Given the description of an element on the screen output the (x, y) to click on. 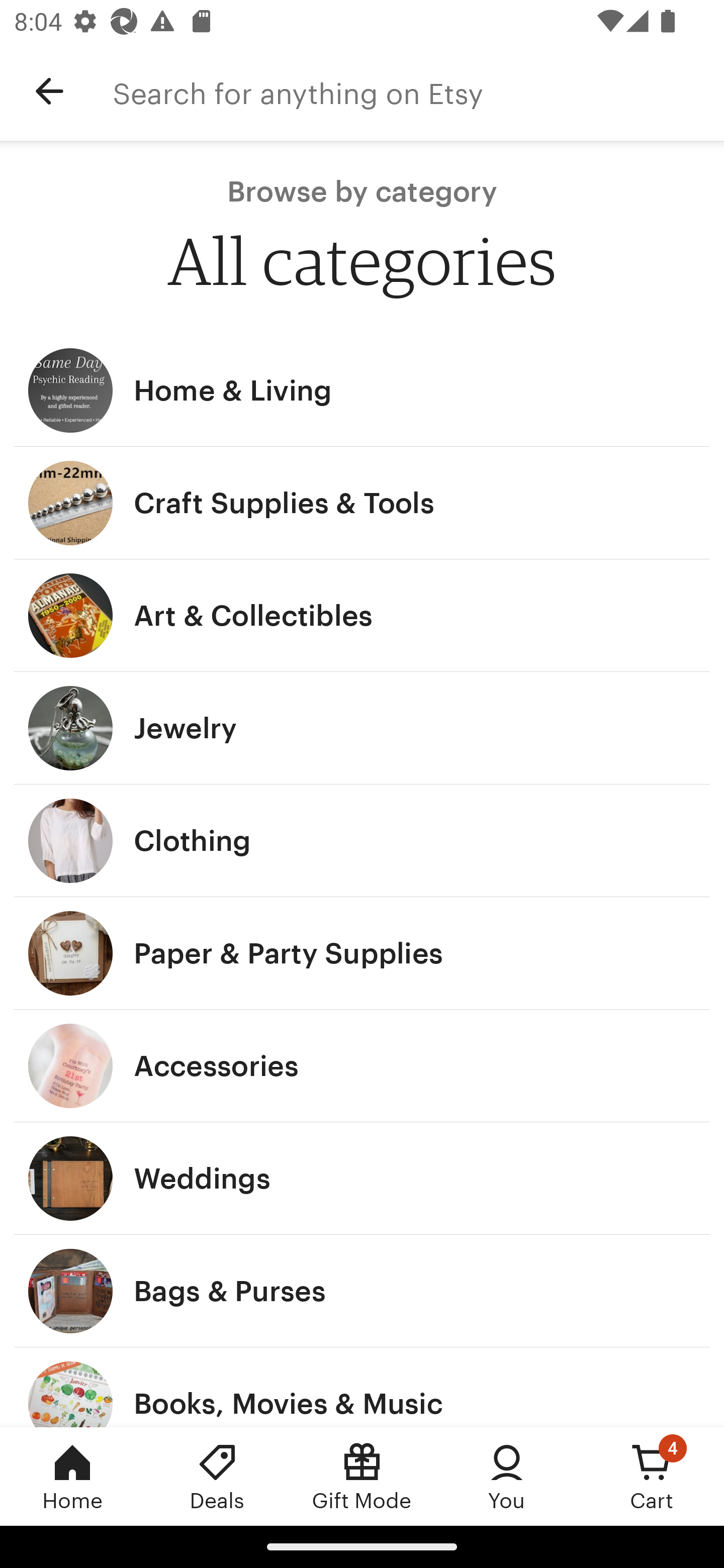
Navigate up (49, 91)
Search for anything on Etsy (418, 91)
Home & Living (361, 389)
Craft Supplies & Tools (361, 502)
Art & Collectibles (361, 615)
Jewelry (361, 728)
Clothing (361, 840)
Paper & Party Supplies (361, 952)
Accessories (361, 1065)
Weddings (361, 1178)
Bags & Purses (361, 1290)
Books, Movies & Music (361, 1386)
Deals (216, 1475)
Gift Mode (361, 1475)
You (506, 1475)
Cart, 4 new notifications Cart (651, 1475)
